Given the description of an element on the screen output the (x, y) to click on. 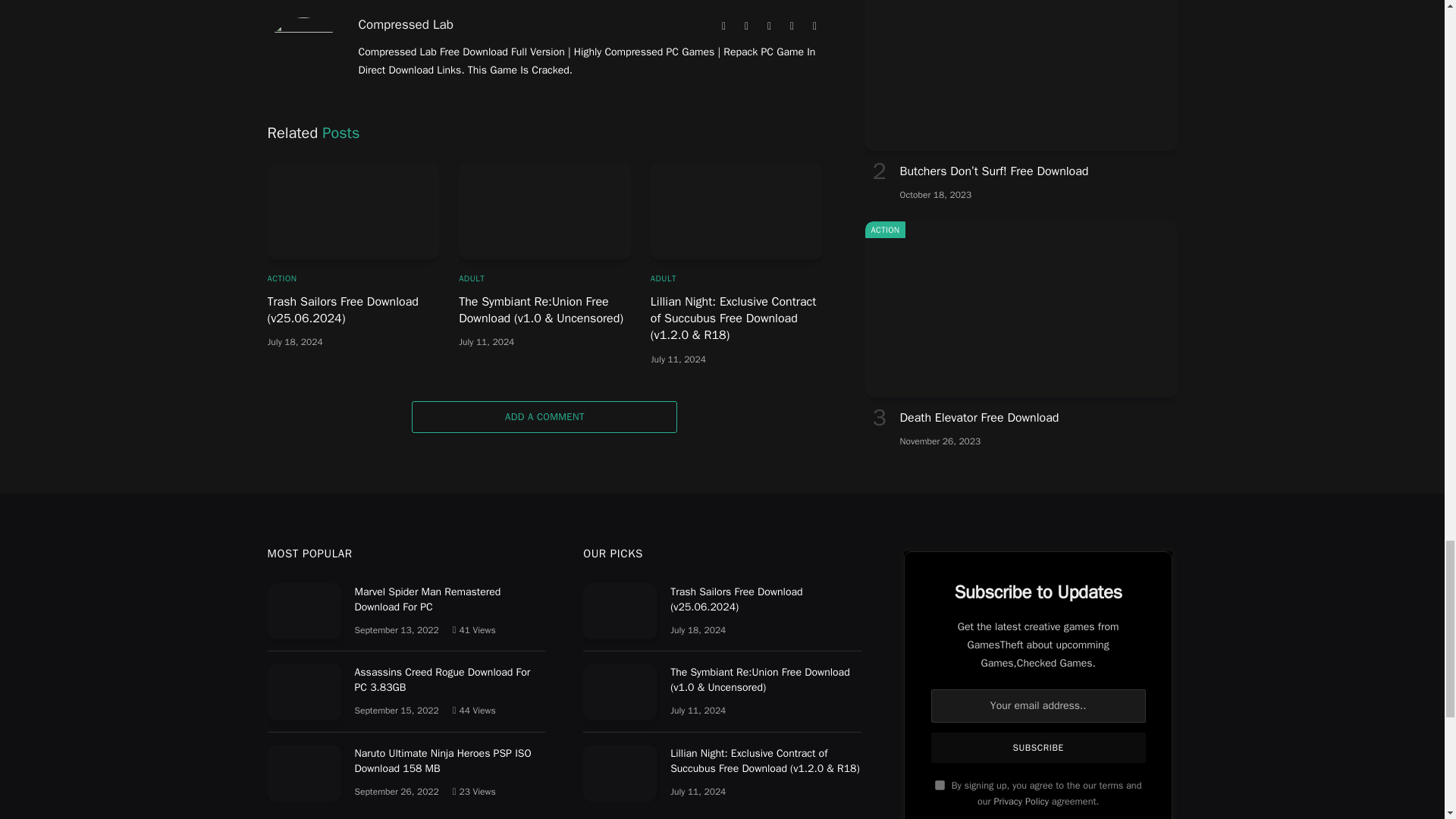
on (939, 785)
Subscribe (1038, 747)
